Given the description of an element on the screen output the (x, y) to click on. 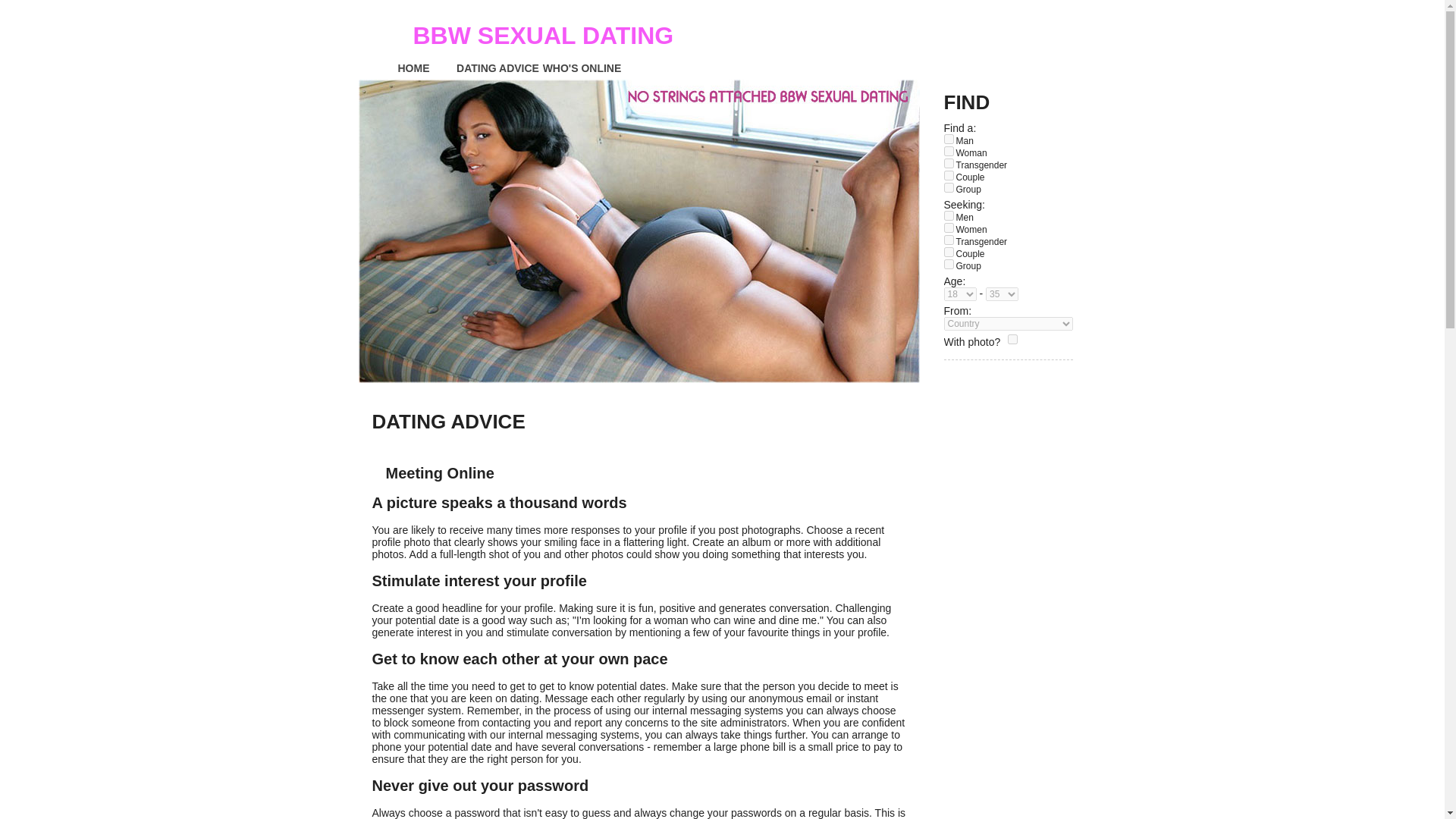
Dating Advice (497, 67)
2 (948, 151)
4 (948, 175)
5 (948, 264)
2 (948, 227)
5 (948, 187)
Online Members (582, 67)
Search (1044, 380)
3 (948, 239)
3 (948, 163)
1 (948, 215)
Home (414, 67)
BBW SEXUAL DATING (561, 34)
1 (1012, 338)
HOME (414, 67)
